Given the description of an element on the screen output the (x, y) to click on. 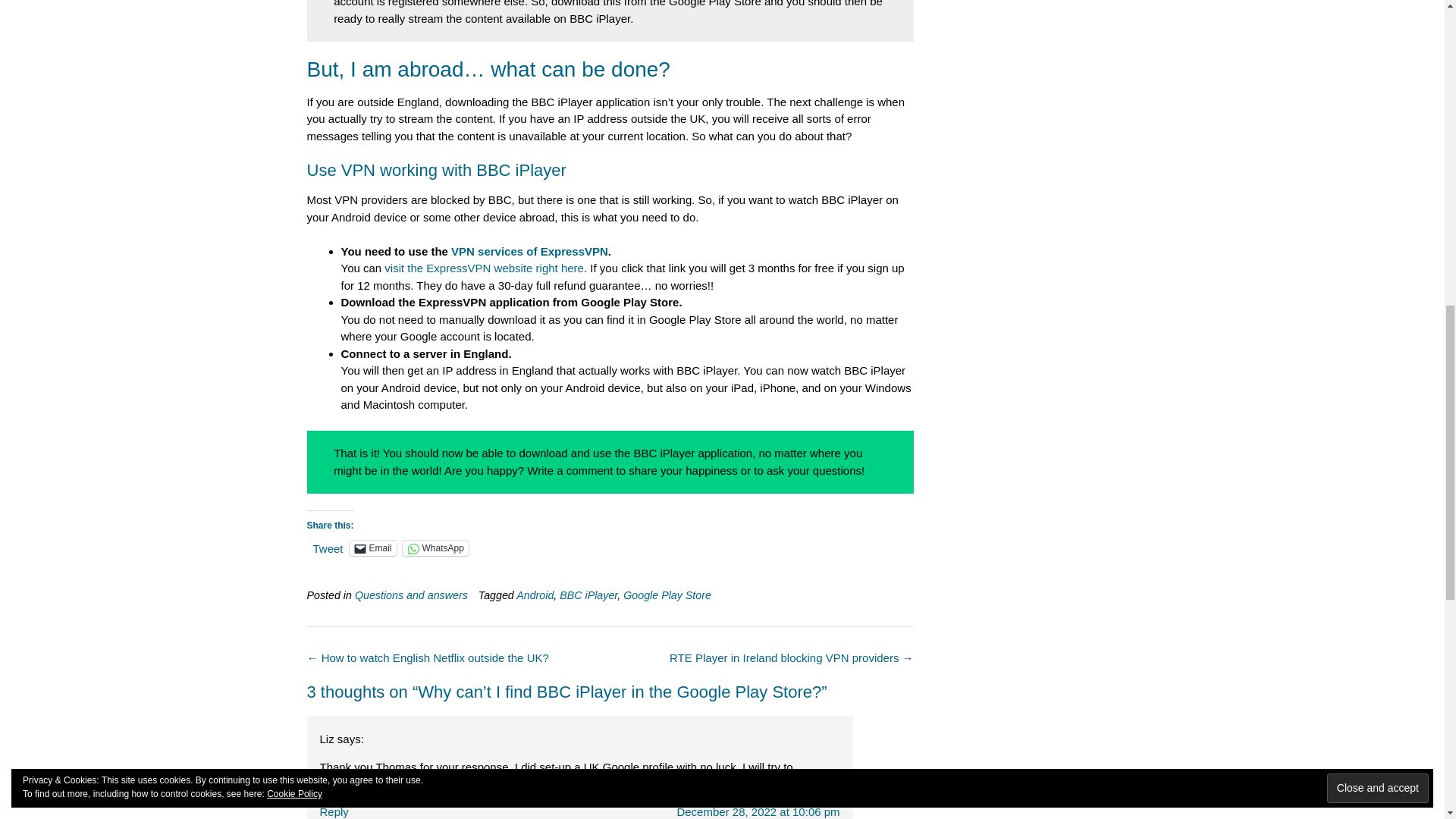
Tweet (327, 547)
Click to share on WhatsApp (435, 548)
BBC iPlayer (588, 594)
visit the ExpressVPN website right here (483, 267)
Reply (334, 811)
December 28, 2022 at 10:06 pm (758, 811)
Email (372, 548)
Click to email a link to a friend (372, 548)
WhatsApp (435, 548)
Google Play Store (667, 594)
